Given the description of an element on the screen output the (x, y) to click on. 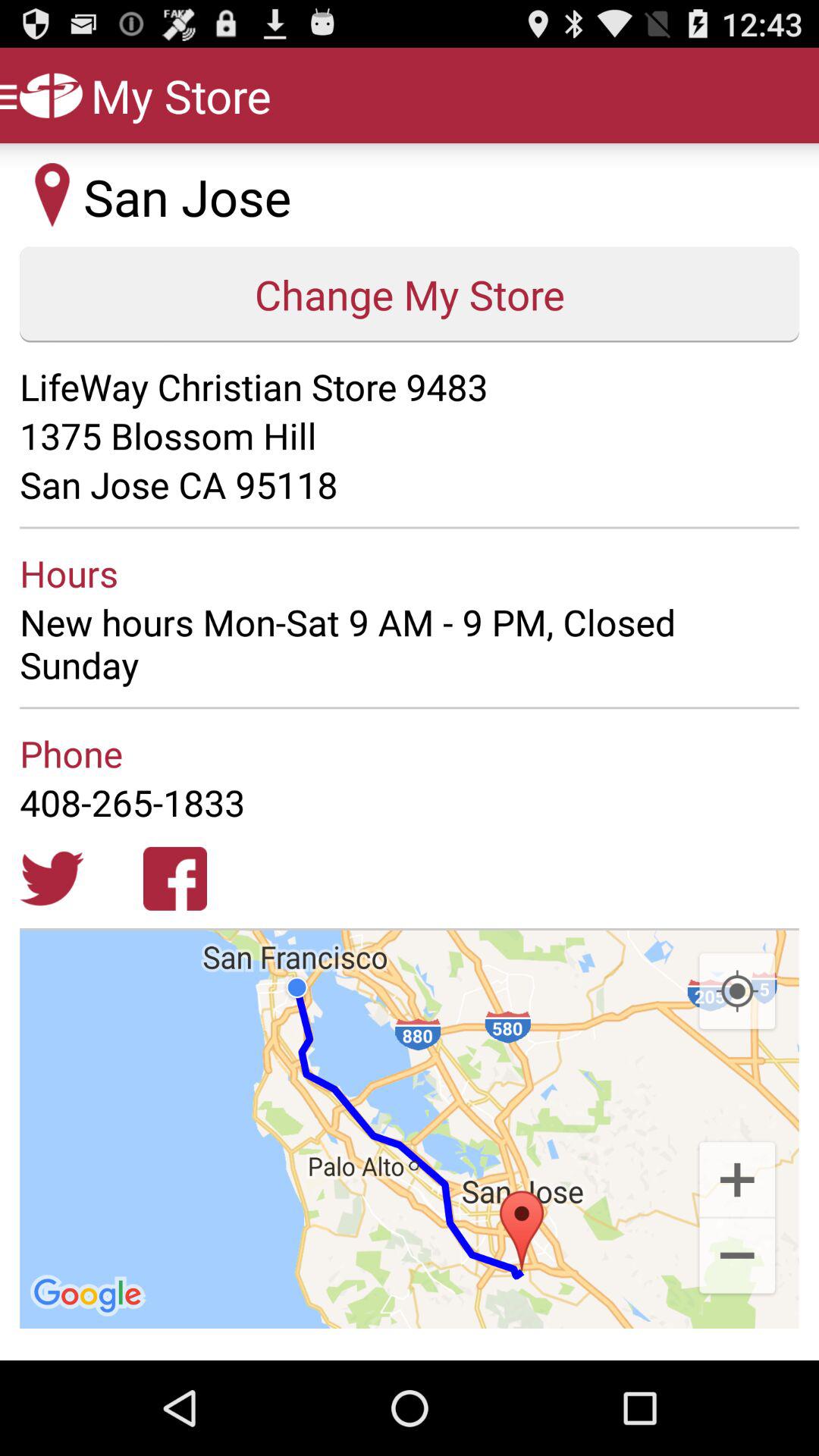
showing twitter option (51, 878)
